Given the description of an element on the screen output the (x, y) to click on. 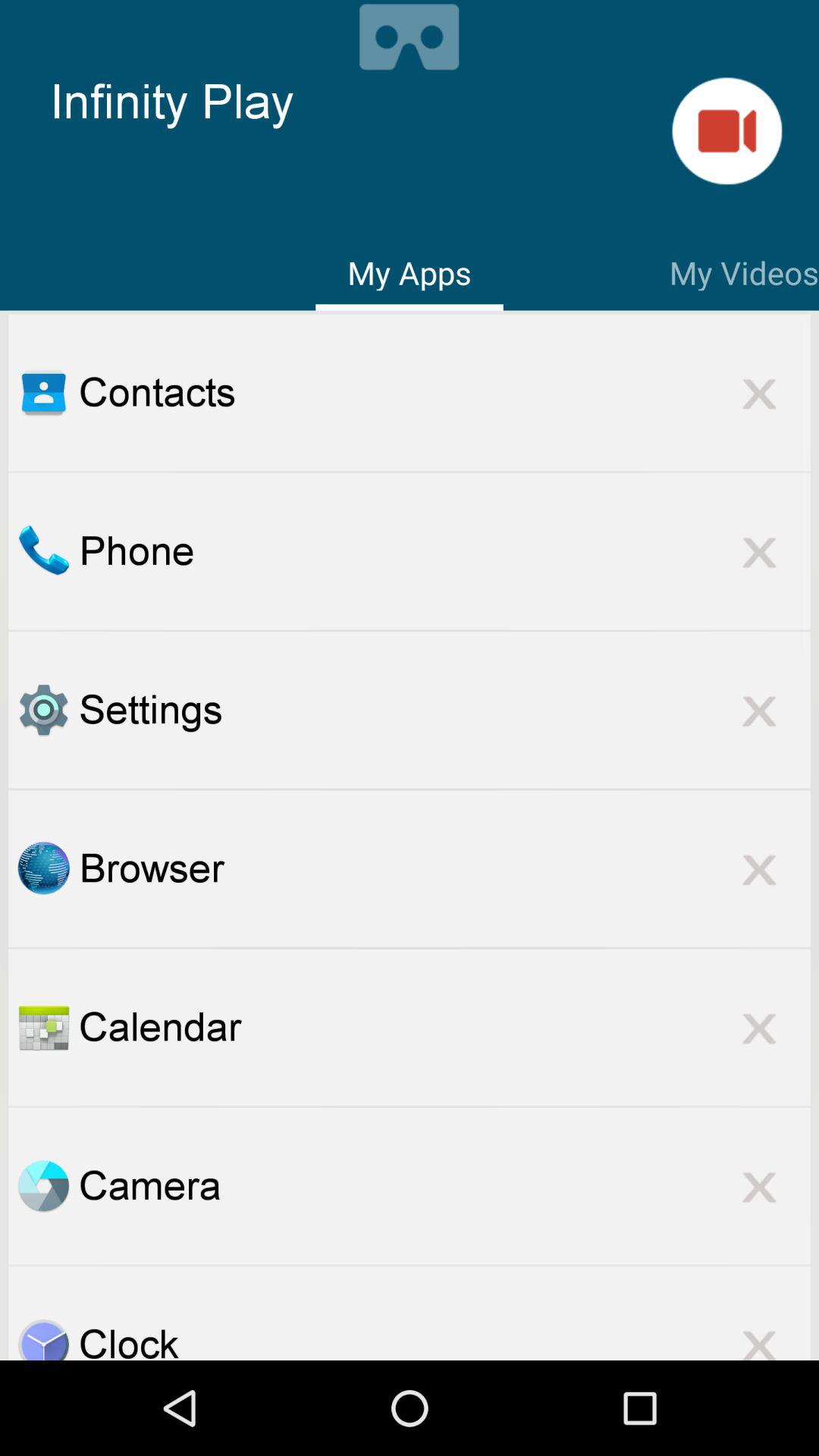
open my videos item (744, 270)
